Given the description of an element on the screen output the (x, y) to click on. 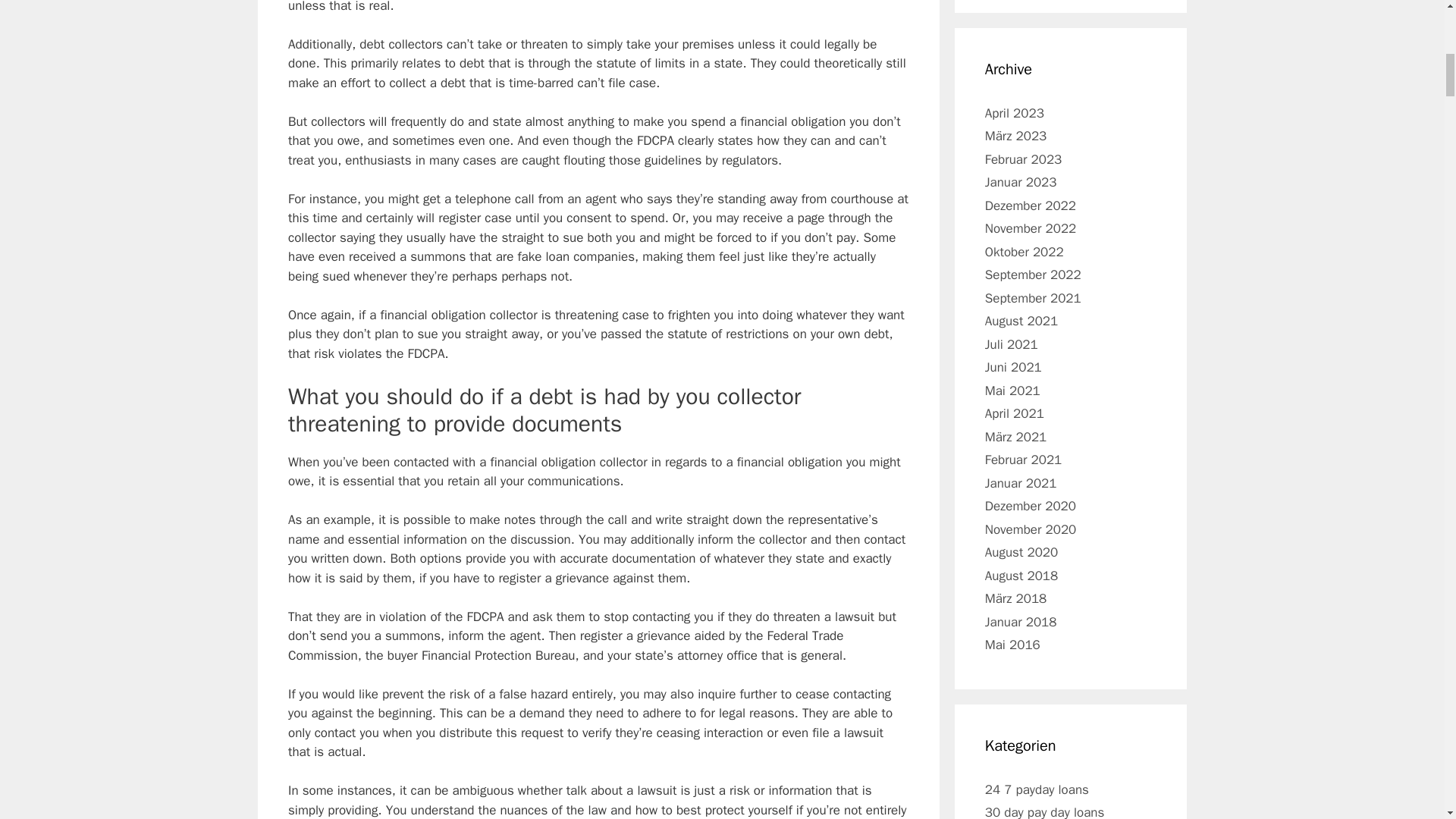
Oktober 2022 (1024, 252)
November 2020 (1031, 529)
Mai 2021 (1013, 390)
November 2022 (1031, 228)
Dezember 2022 (1030, 205)
August 2021 (1021, 320)
Juni 2021 (1013, 367)
Februar 2023 (1023, 159)
April 2021 (1014, 413)
Januar 2021 (1021, 483)
